Given the description of an element on the screen output the (x, y) to click on. 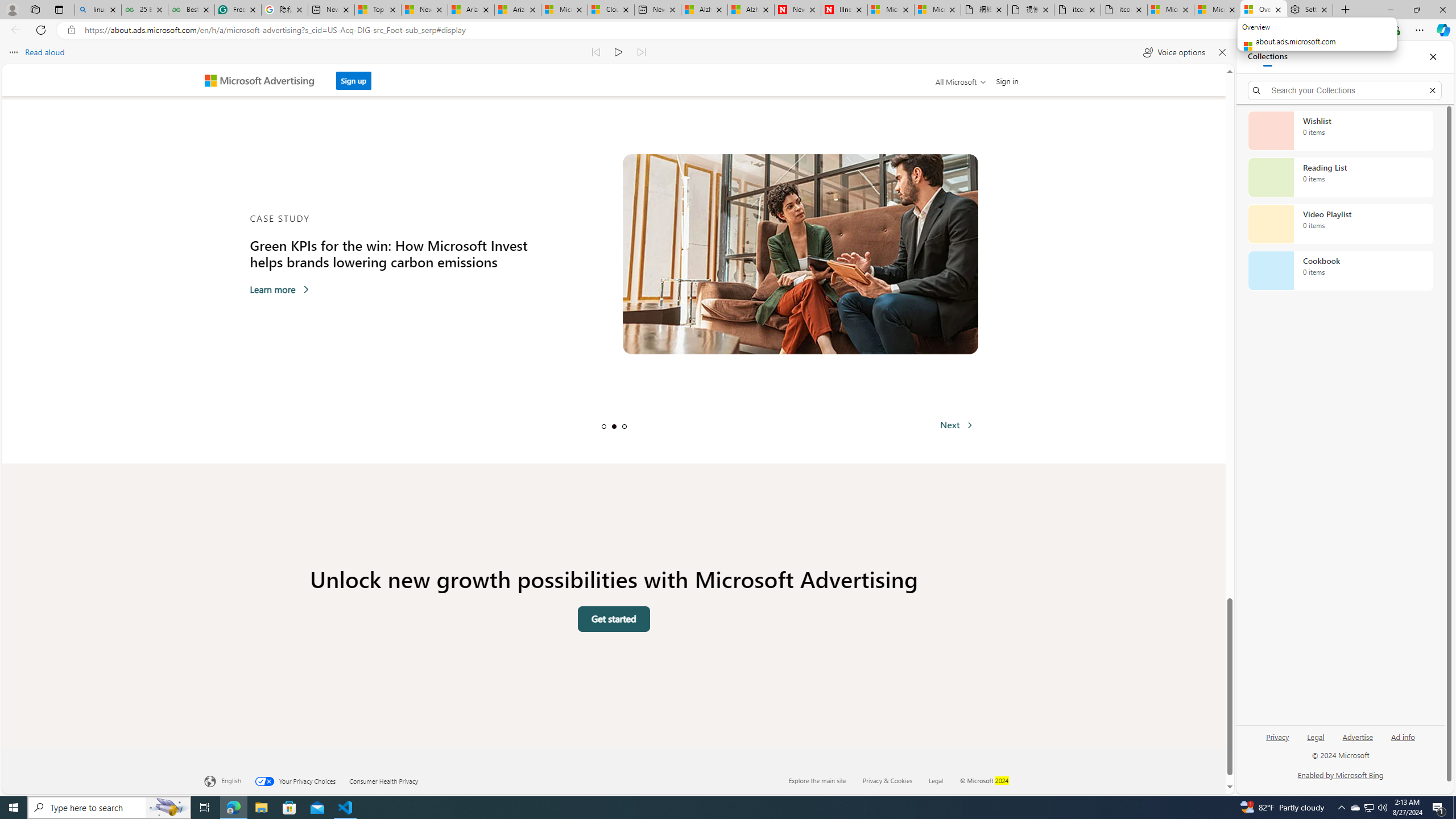
Sign in (1007, 80)
Cookbook collection, 0 items (1339, 270)
Newsweek - News, Analysis, Politics, Business, Technology (797, 9)
Overview (1263, 9)
linux basic - Search (97, 9)
Explore the main site (817, 779)
